Given the description of an element on the screen output the (x, y) to click on. 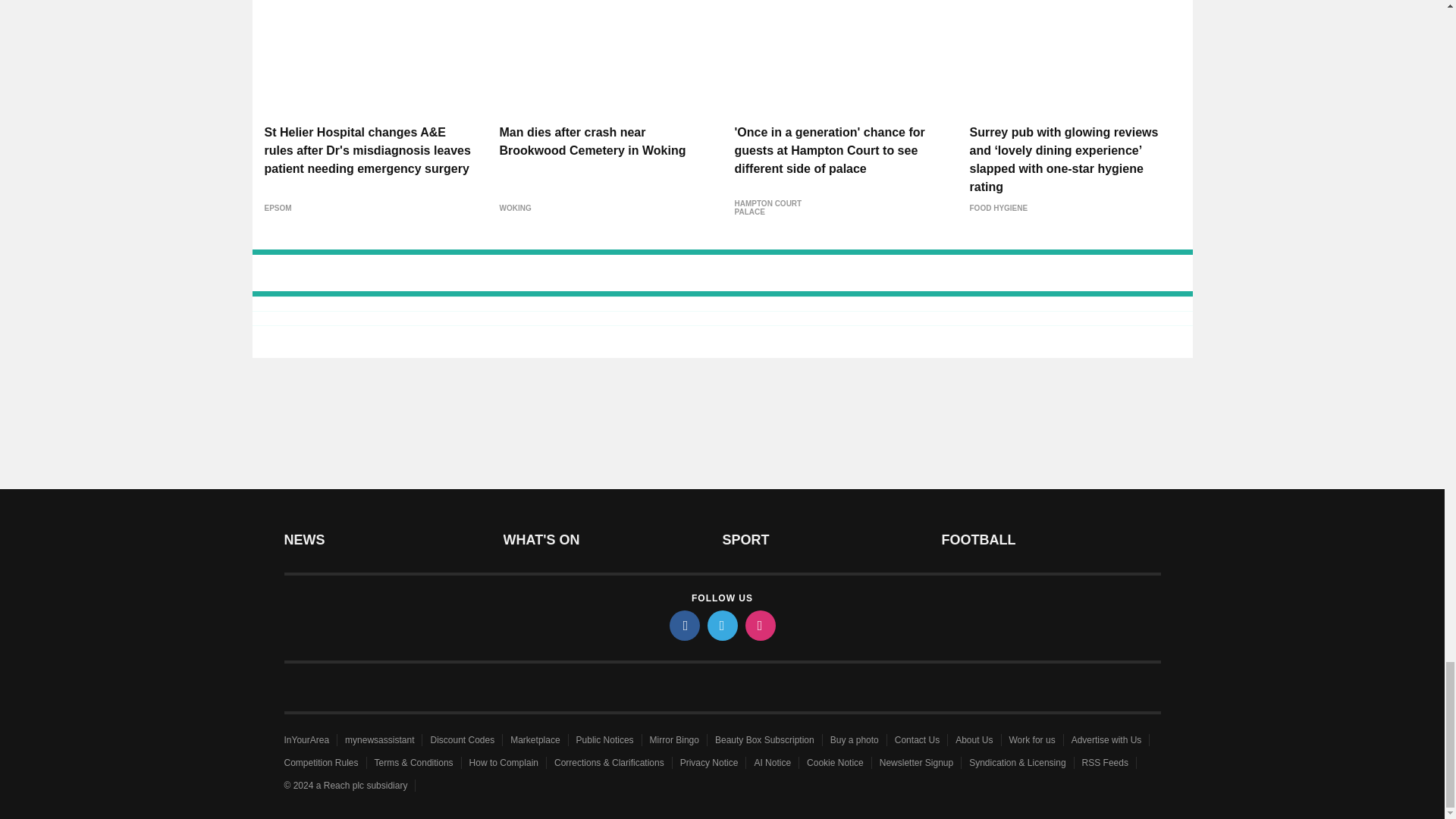
instagram (759, 625)
twitter (721, 625)
facebook (683, 625)
